Given the description of an element on the screen output the (x, y) to click on. 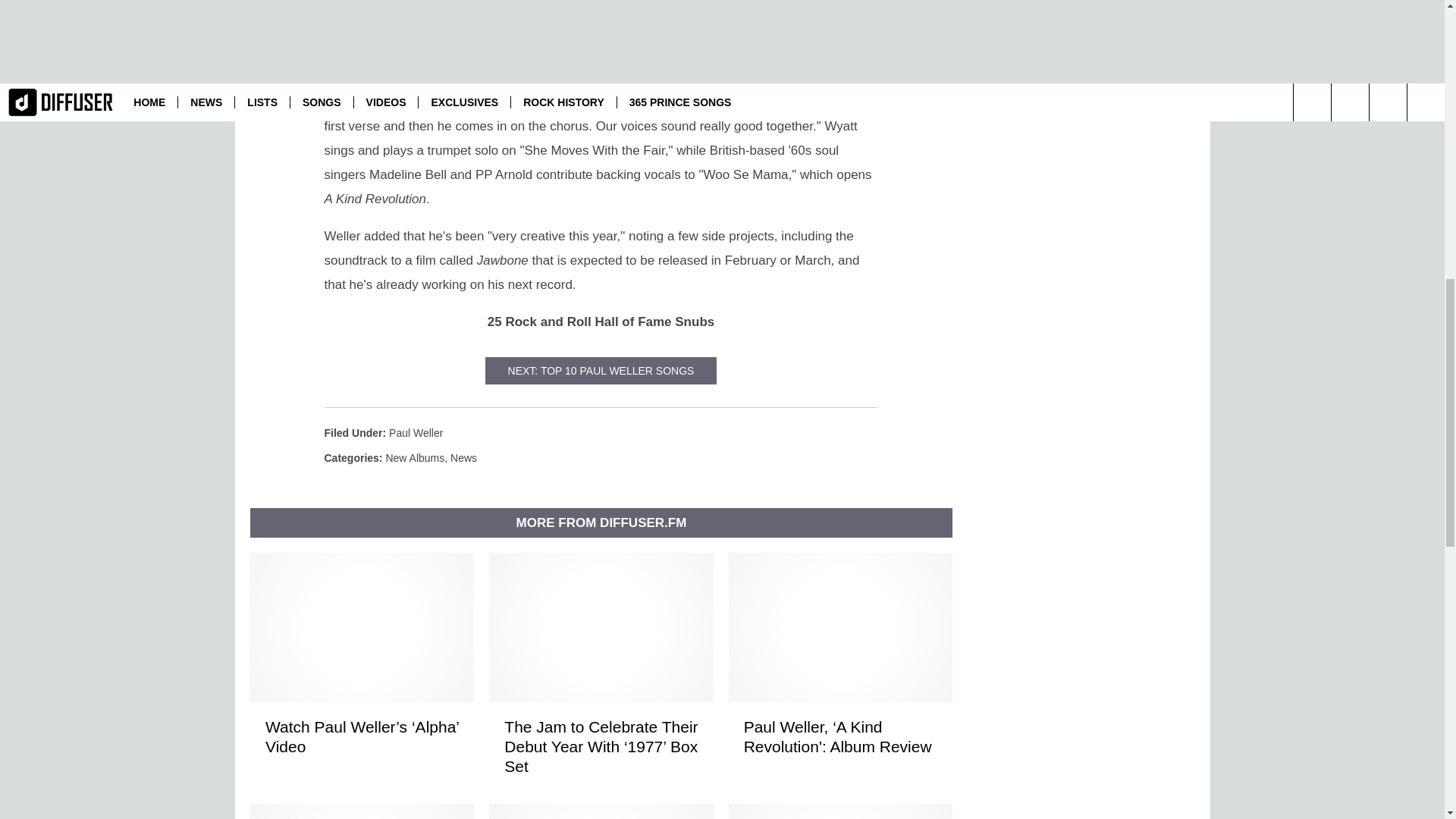
News (463, 458)
New Albums (414, 458)
NEXT: TOP 10 PAUL WELLER SONGS (600, 370)
Paul Weller (415, 432)
